Given the description of an element on the screen output the (x, y) to click on. 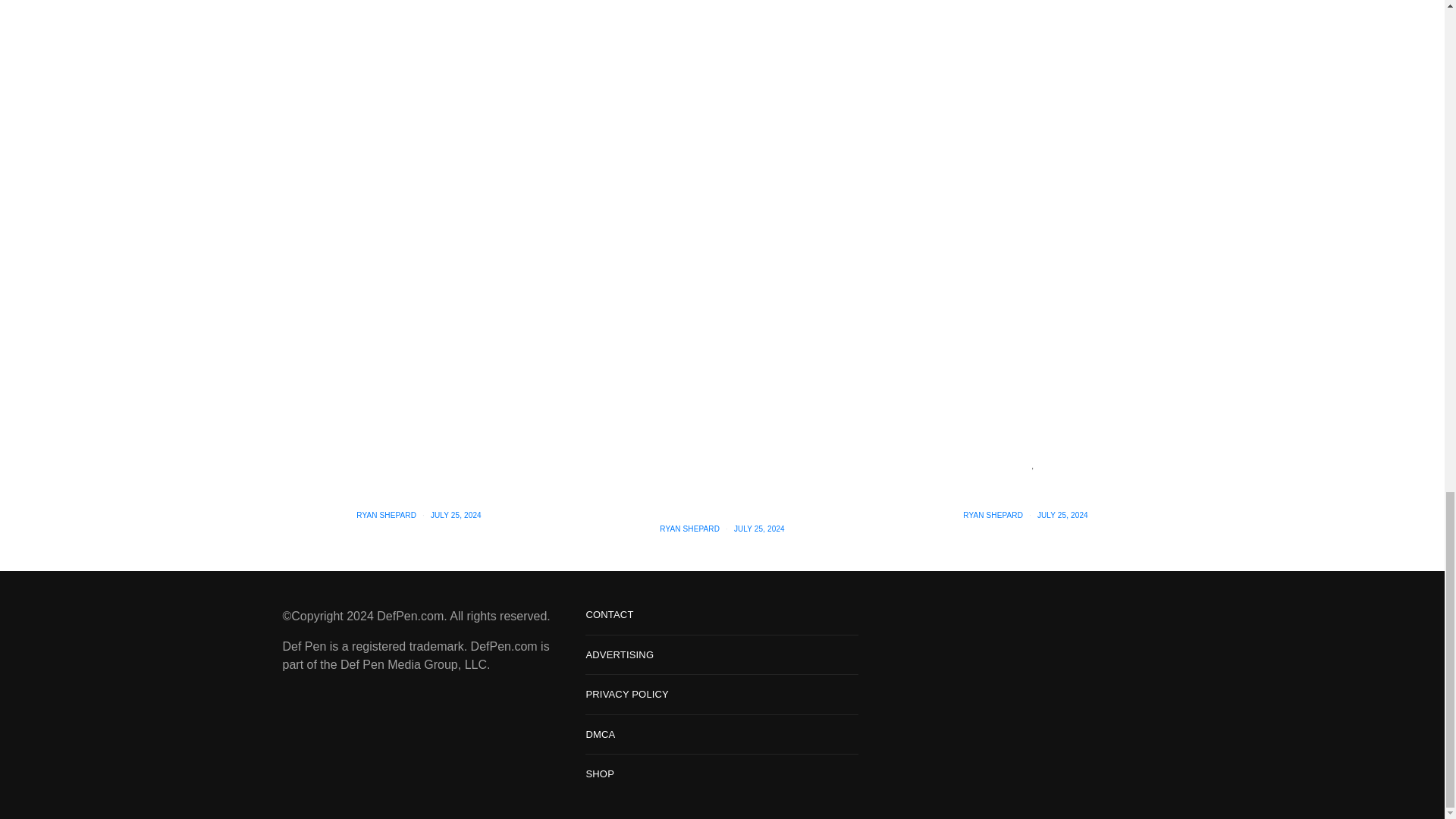
View all posts by Ryan Shepard (689, 528)
View all posts by Ryan Shepard (992, 515)
View all posts by Ryan Shepard (386, 515)
